Given the description of an element on the screen output the (x, y) to click on. 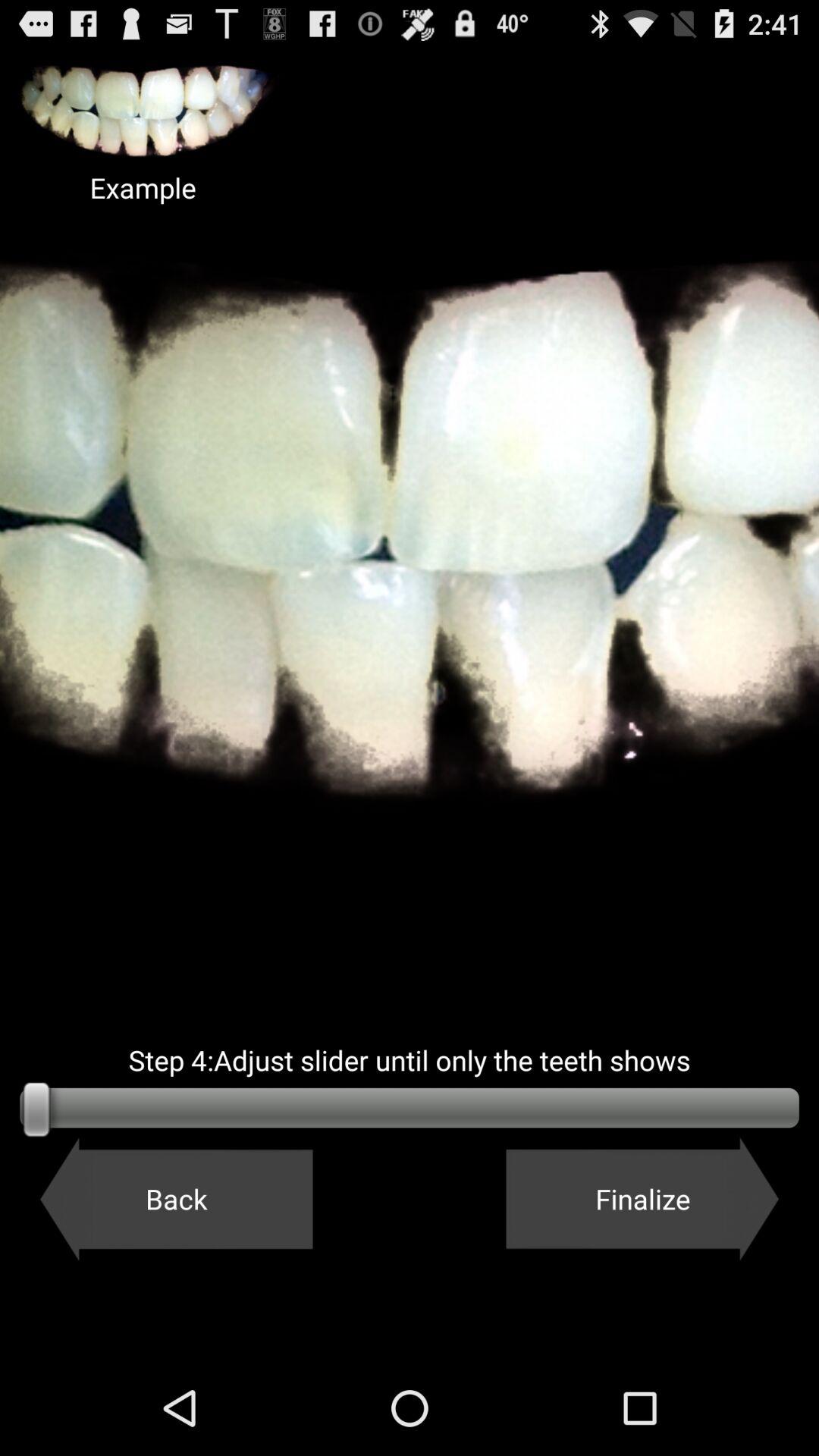
turn off back button (175, 1198)
